Given the description of an element on the screen output the (x, y) to click on. 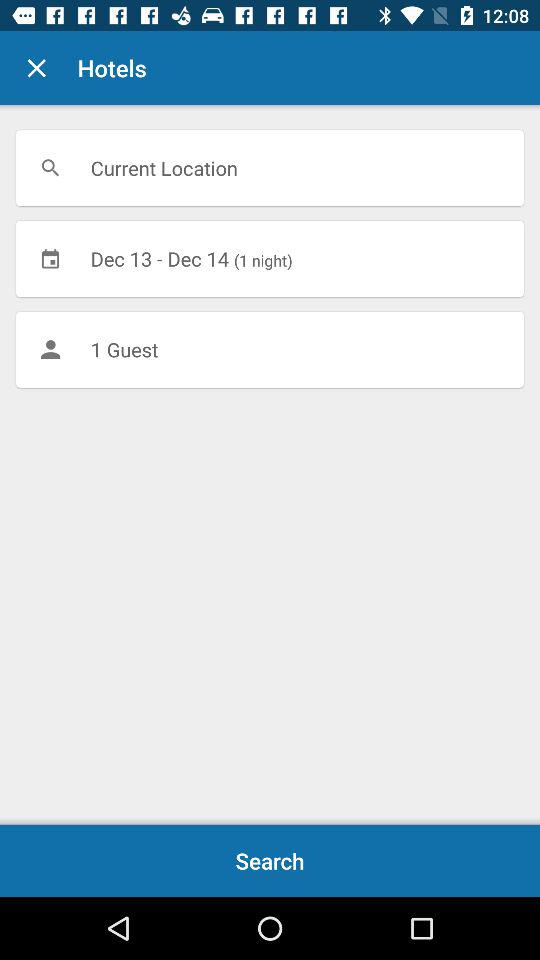
tap the item at the center (269, 349)
